Given the description of an element on the screen output the (x, y) to click on. 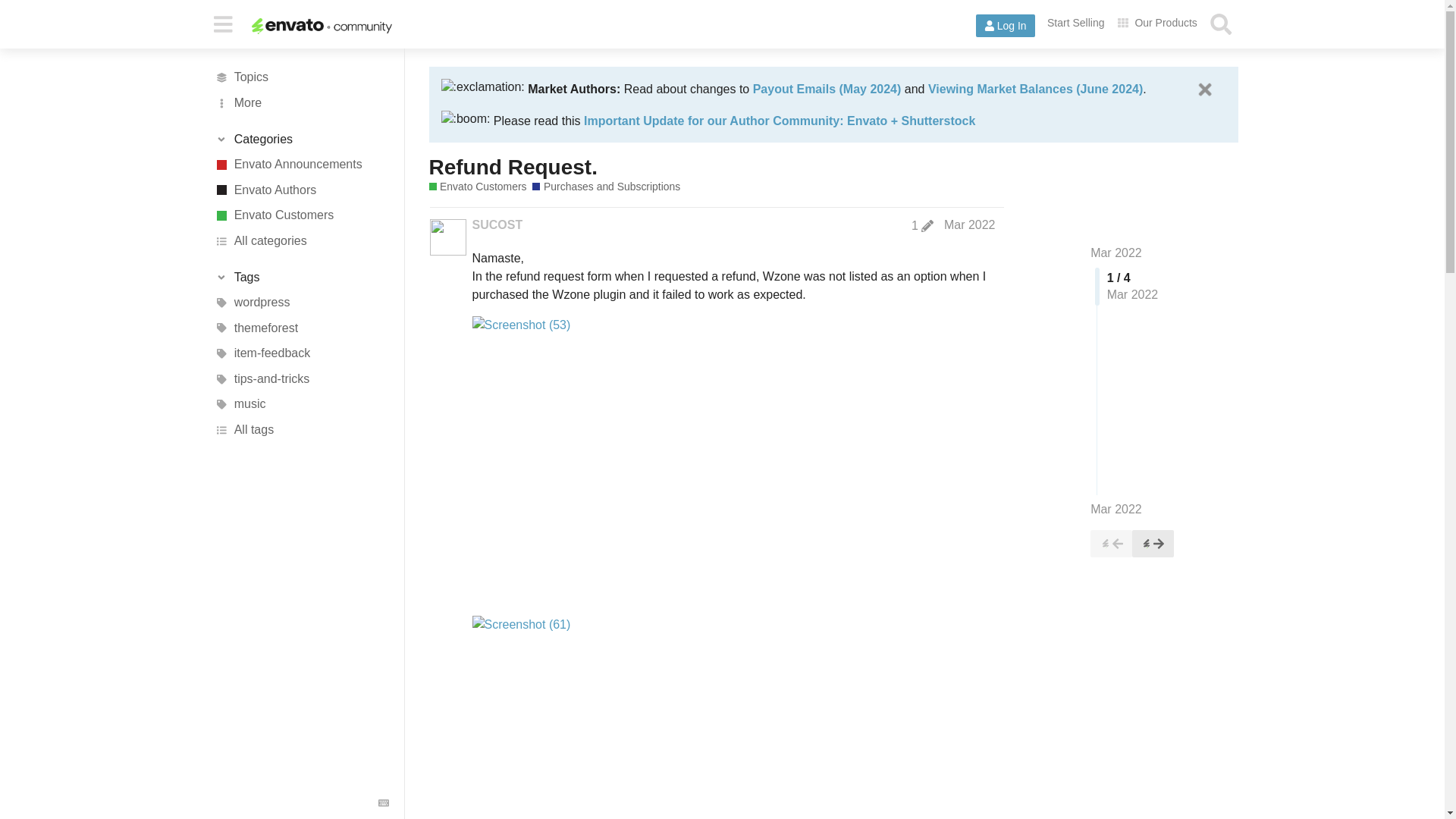
Envato Customers (301, 216)
Keyboard Shortcuts (384, 802)
Envato Announcements (301, 164)
All topics (301, 77)
wordpress (301, 302)
Categories (301, 139)
Mar 2022 (1115, 252)
Our Products (1157, 22)
Envato Customers (478, 186)
Dismiss this banner (1204, 88)
Topics (301, 77)
:exclamation: (482, 86)
Refund Request. (512, 167)
All categories (301, 240)
